Given the description of an element on the screen output the (x, y) to click on. 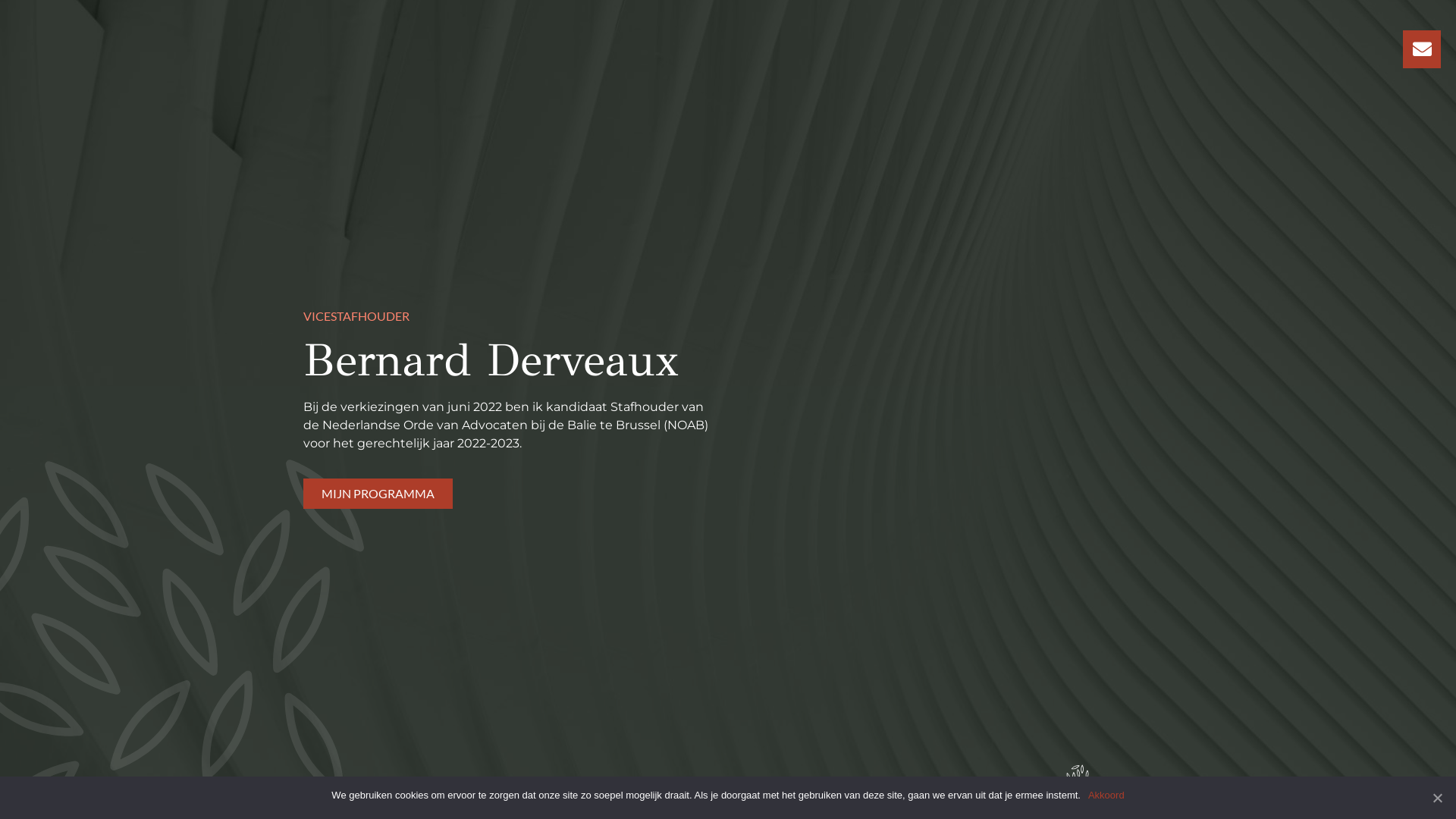
Akkoord Element type: text (1106, 794)
MIJN PROGRAMMA Element type: text (377, 493)
